Given the description of an element on the screen output the (x, y) to click on. 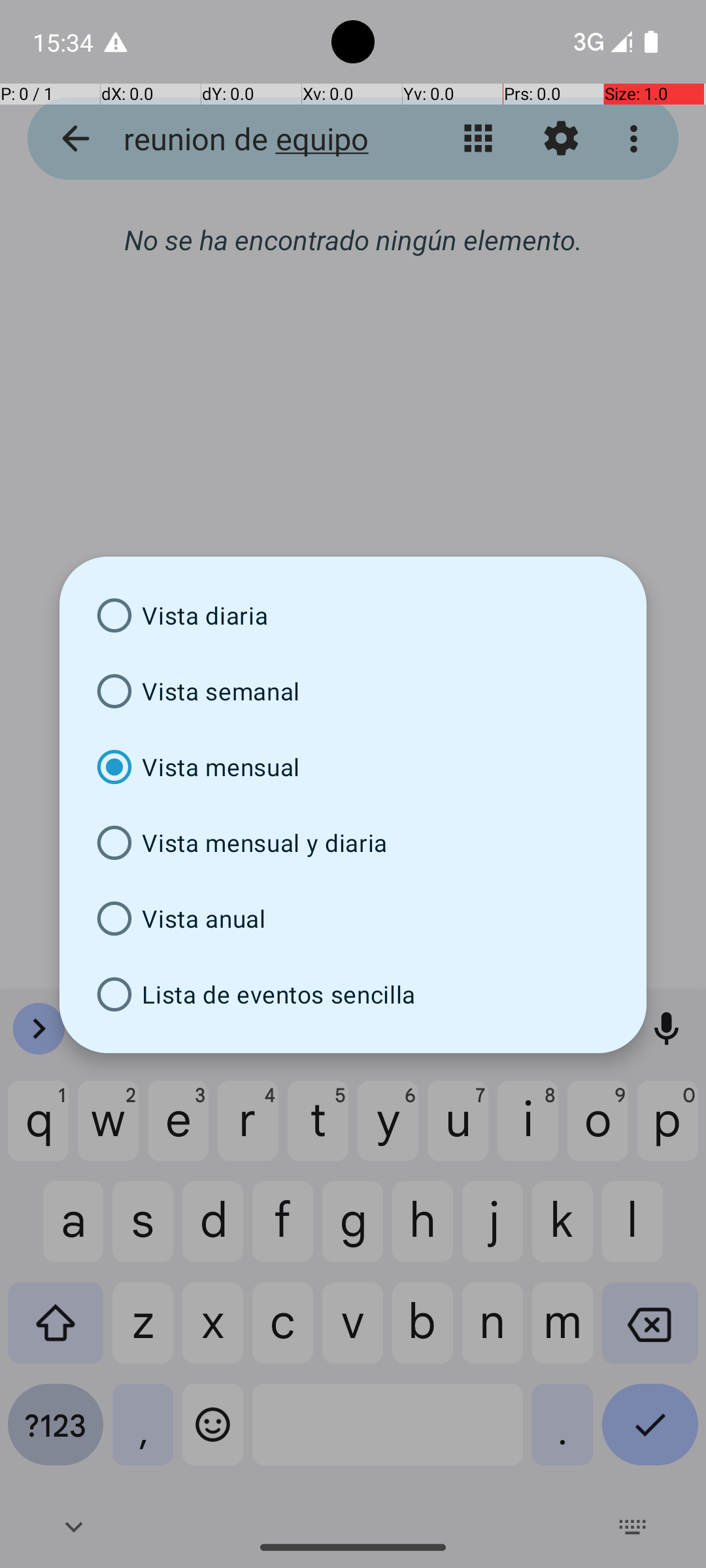
Vista diaria Element type: android.widget.RadioButton (352, 615)
Vista semanal Element type: android.widget.RadioButton (352, 691)
Vista mensual Element type: android.widget.RadioButton (352, 766)
Vista mensual y diaria Element type: android.widget.RadioButton (352, 842)
Vista anual Element type: android.widget.RadioButton (352, 918)
Lista de eventos sencilla Element type: android.widget.RadioButton (352, 994)
